Given the description of an element on the screen output the (x, y) to click on. 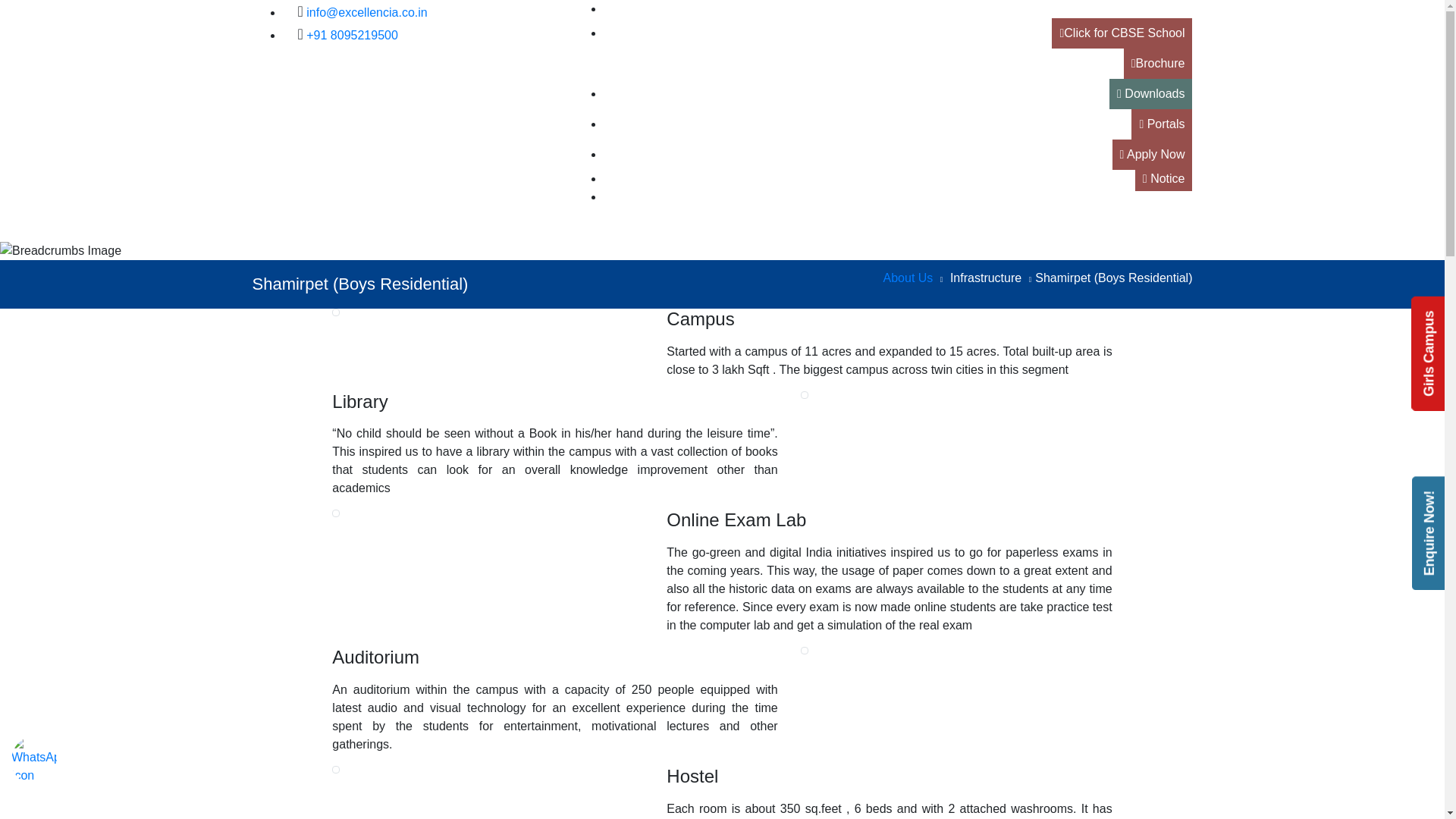
Brochure (1158, 63)
Home (413, 229)
Click for CBSE School (1121, 33)
Downloads (1150, 93)
Apply Now (1152, 154)
Notice (1163, 178)
Blog (1176, 8)
About Us (492, 229)
Results (1168, 196)
Portals (1161, 123)
